Given the description of an element on the screen output the (x, y) to click on. 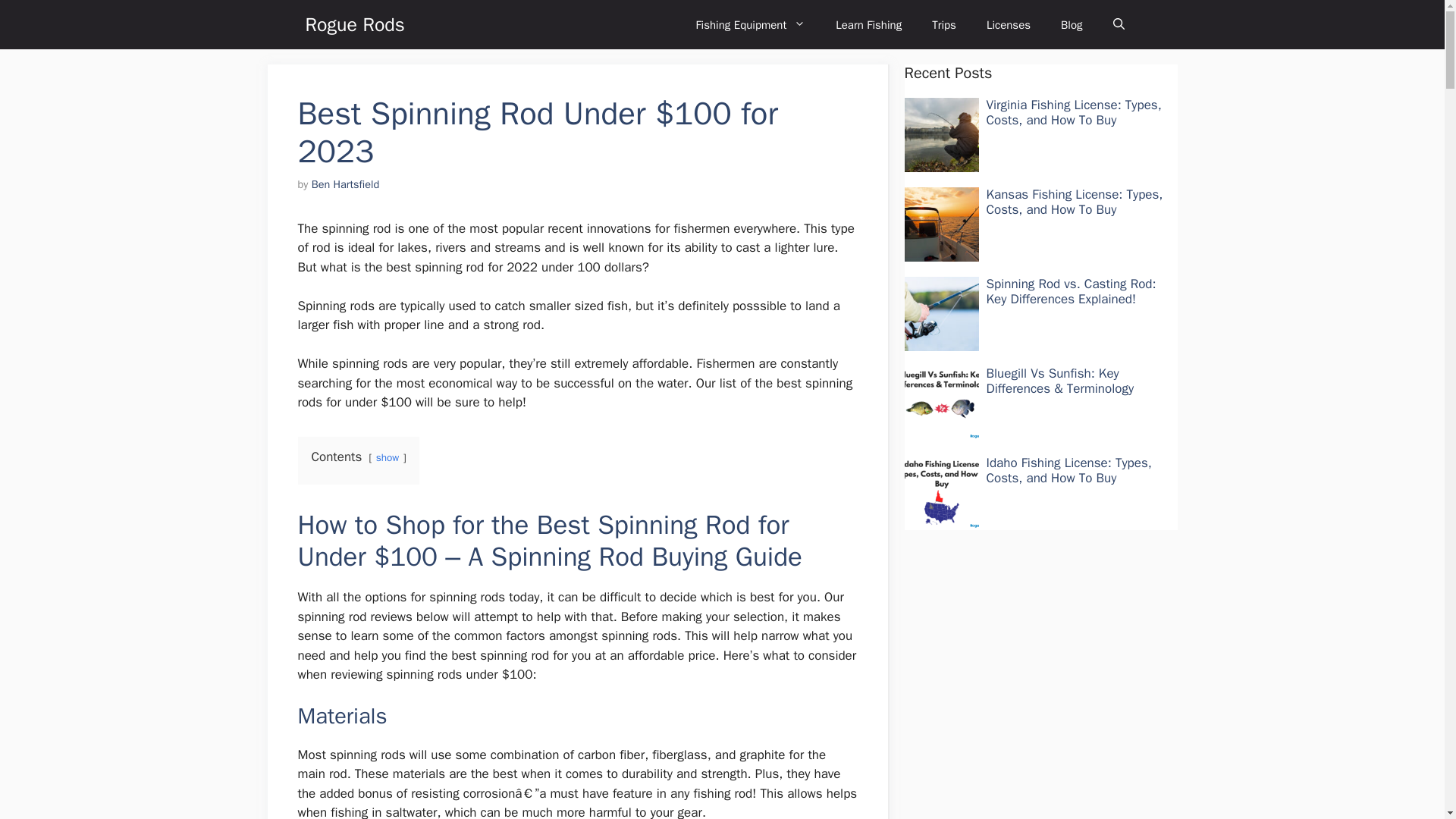
Licenses (1008, 23)
show (386, 457)
Trips (944, 23)
Rogue Rods (354, 24)
Ben Hartsfield (345, 183)
Learn Fishing (869, 23)
Blog (1071, 23)
Fishing Equipment (750, 23)
View all posts by Ben Hartsfield (345, 183)
